Given the description of an element on the screen output the (x, y) to click on. 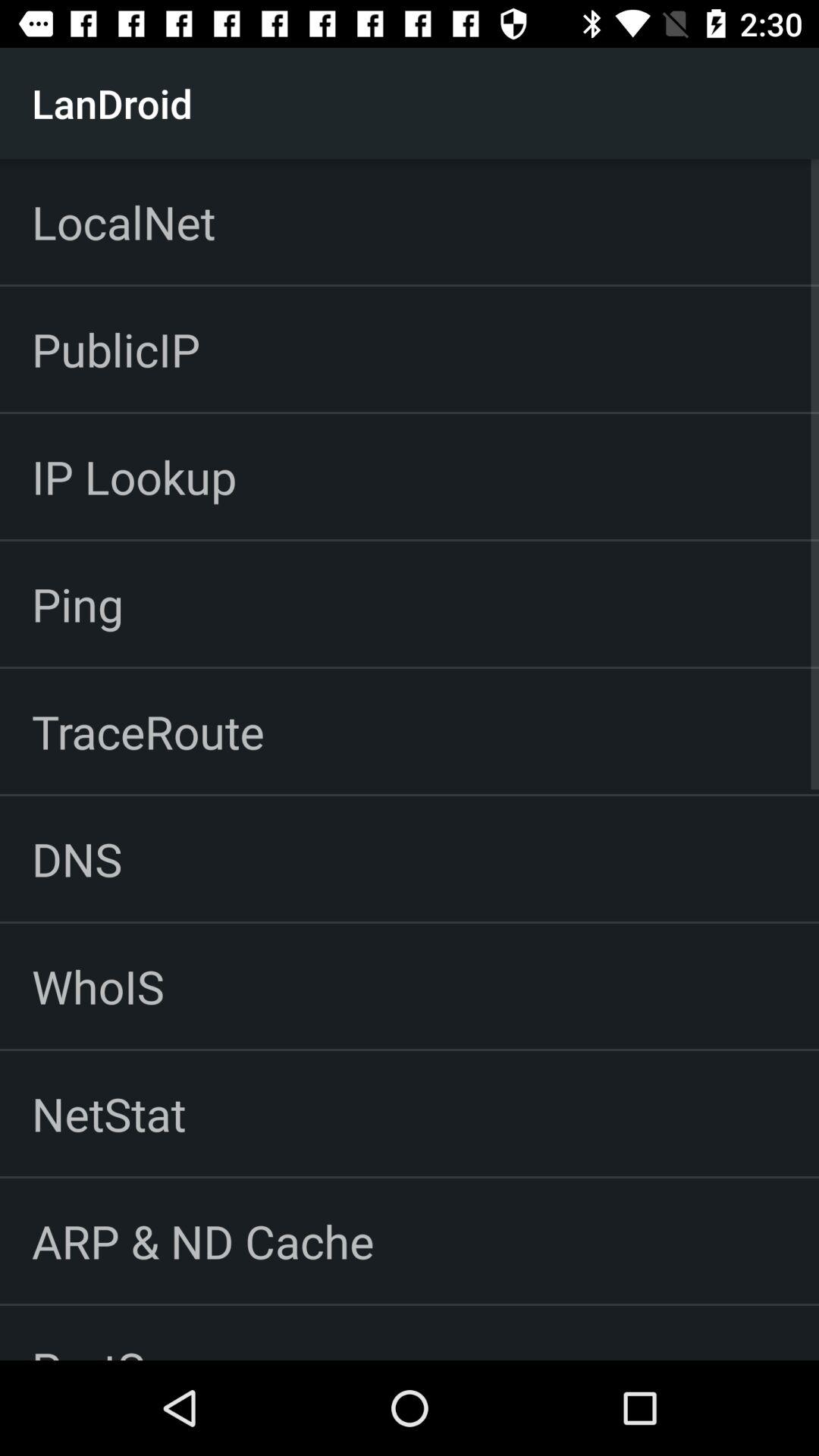
choose the item above the dns item (148, 730)
